Given the description of an element on the screen output the (x, y) to click on. 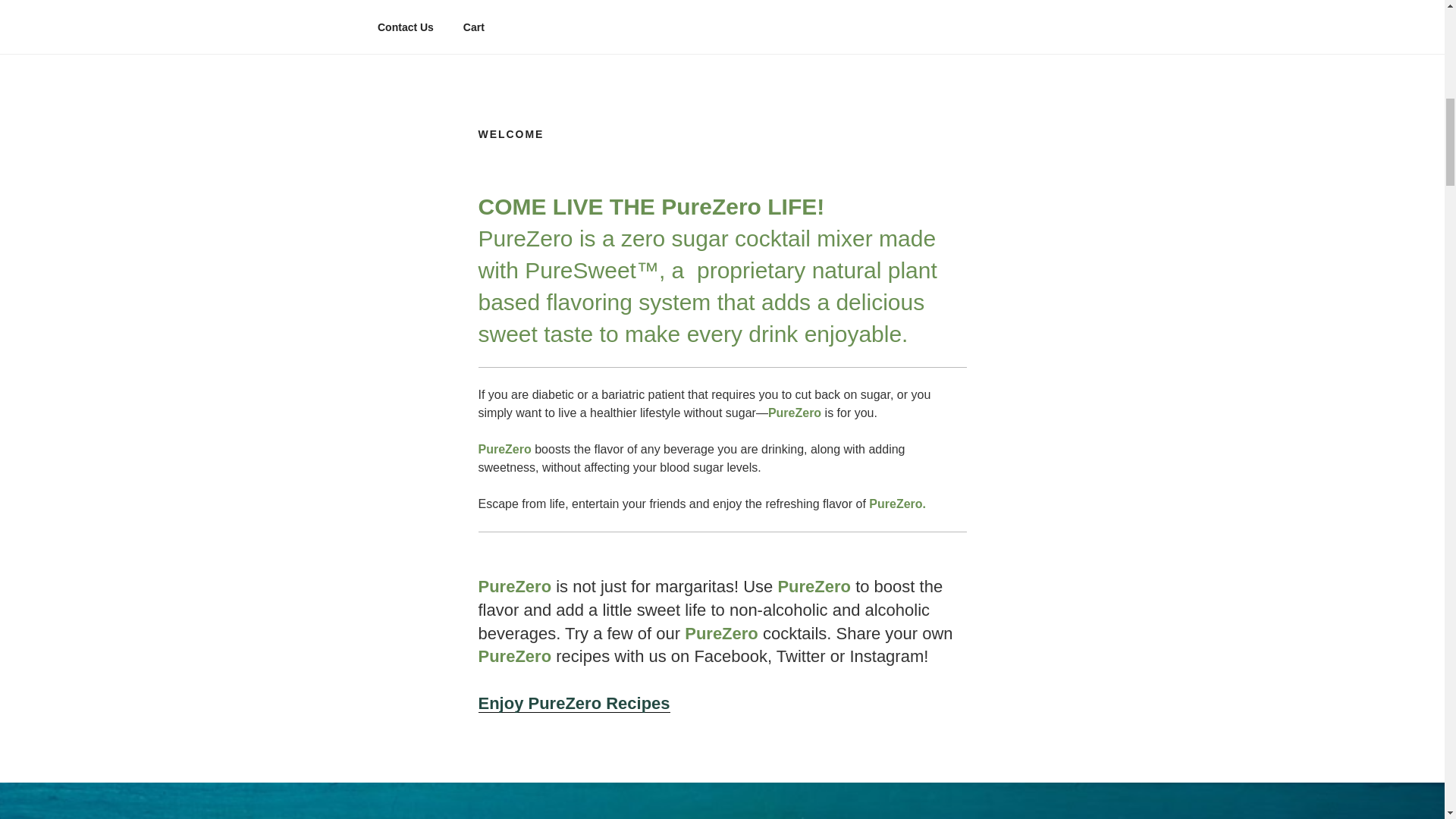
Welcome (400, 4)
Contact Us (405, 27)
Locations (962, 4)
Scroll down to content (1082, 2)
Scroll down to content (1082, 2)
Cocktail Recipes (865, 4)
Enjoy PureZero Recipes (573, 702)
Shop (780, 4)
Cart (473, 27)
Benefits of Zero Sugar (680, 4)
Our Product (485, 4)
Our Story (569, 4)
